Given the description of an element on the screen output the (x, y) to click on. 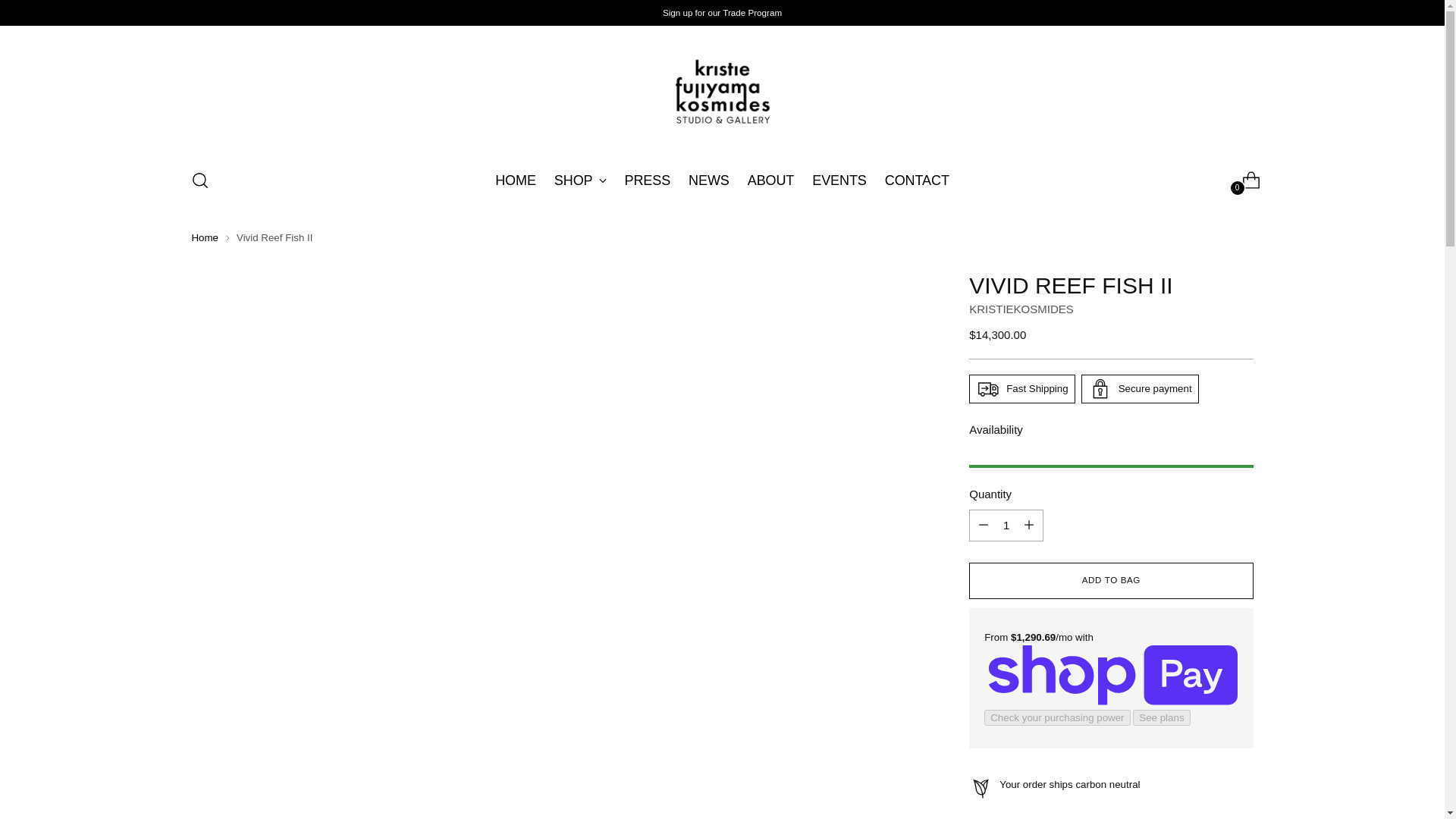
Sign up for our Trade Program (721, 11)
HOME (515, 180)
KRISTIEKOSMIDES (1021, 308)
SHOP (722, 180)
1 (580, 180)
